Given the description of an element on the screen output the (x, y) to click on. 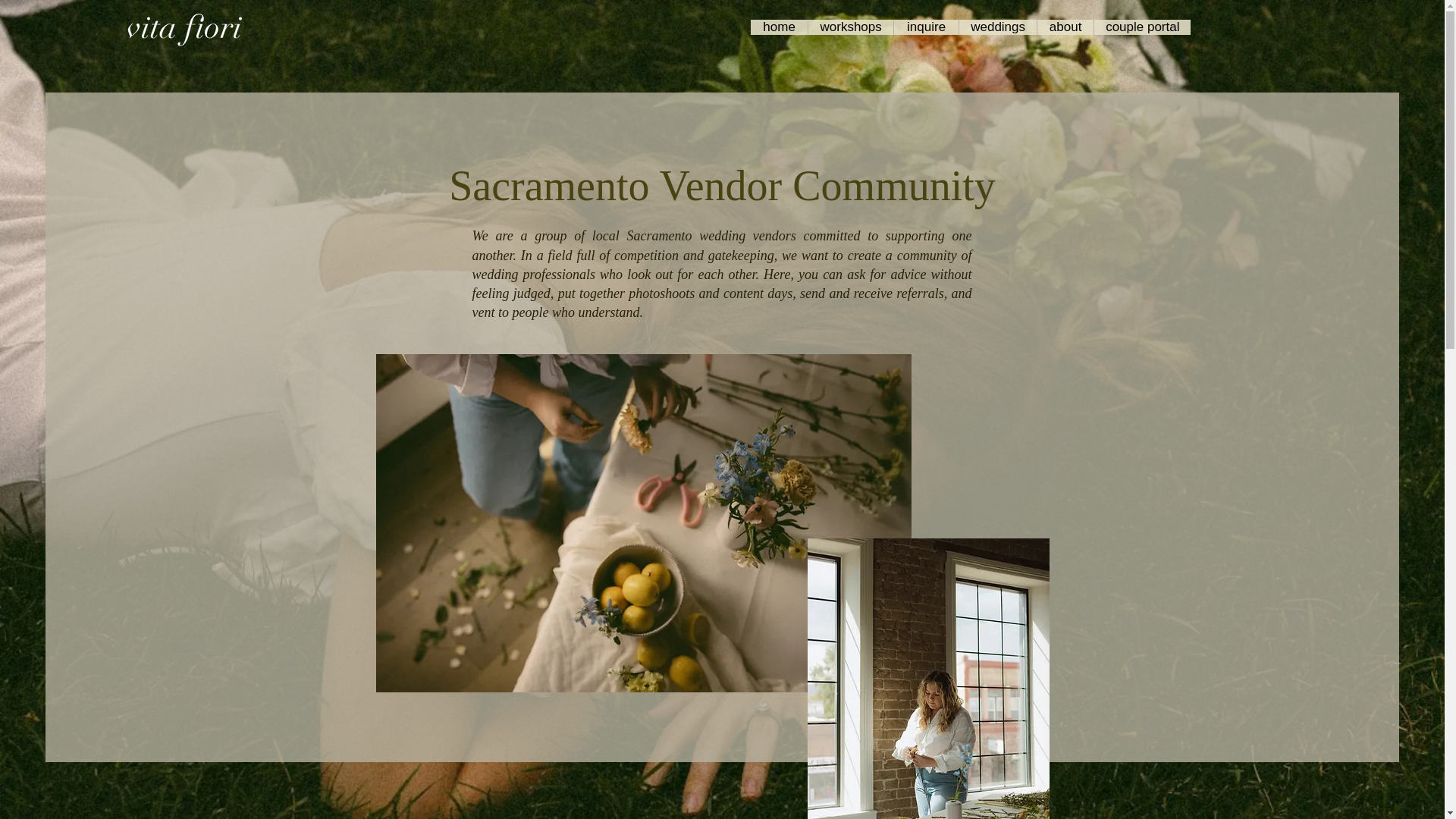
home (779, 27)
inquire (925, 27)
weddings (997, 27)
workshops (850, 27)
